Given the description of an element on the screen output the (x, y) to click on. 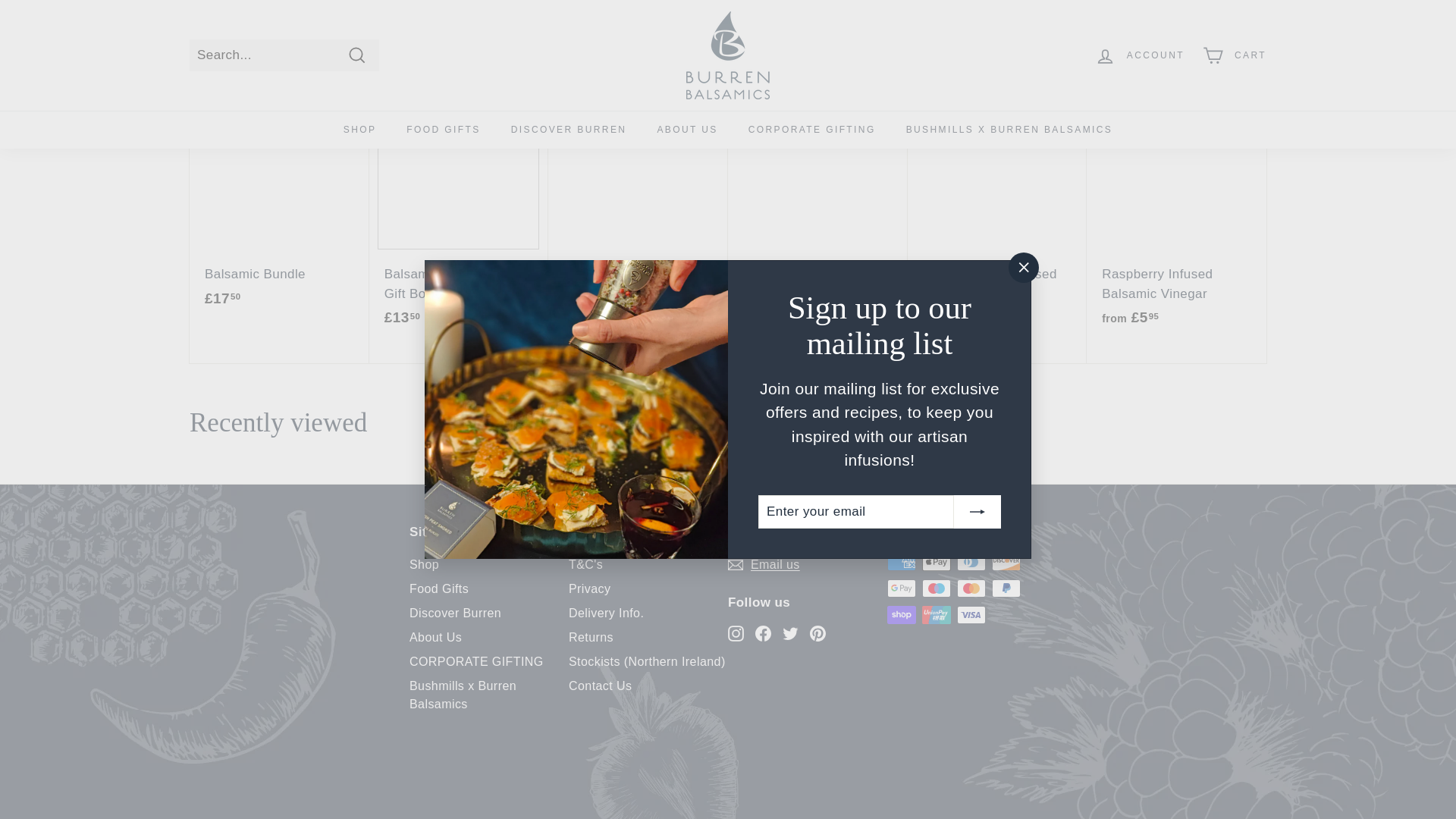
Shop Pay (900, 615)
PayPal (1005, 588)
Union Pay (935, 615)
American Express (900, 561)
Google Pay (900, 588)
Maestro (935, 588)
Diners Club (970, 561)
Apple Pay (935, 561)
Visa (970, 615)
Mastercard (970, 588)
Discover (1005, 561)
